Given the description of an element on the screen output the (x, y) to click on. 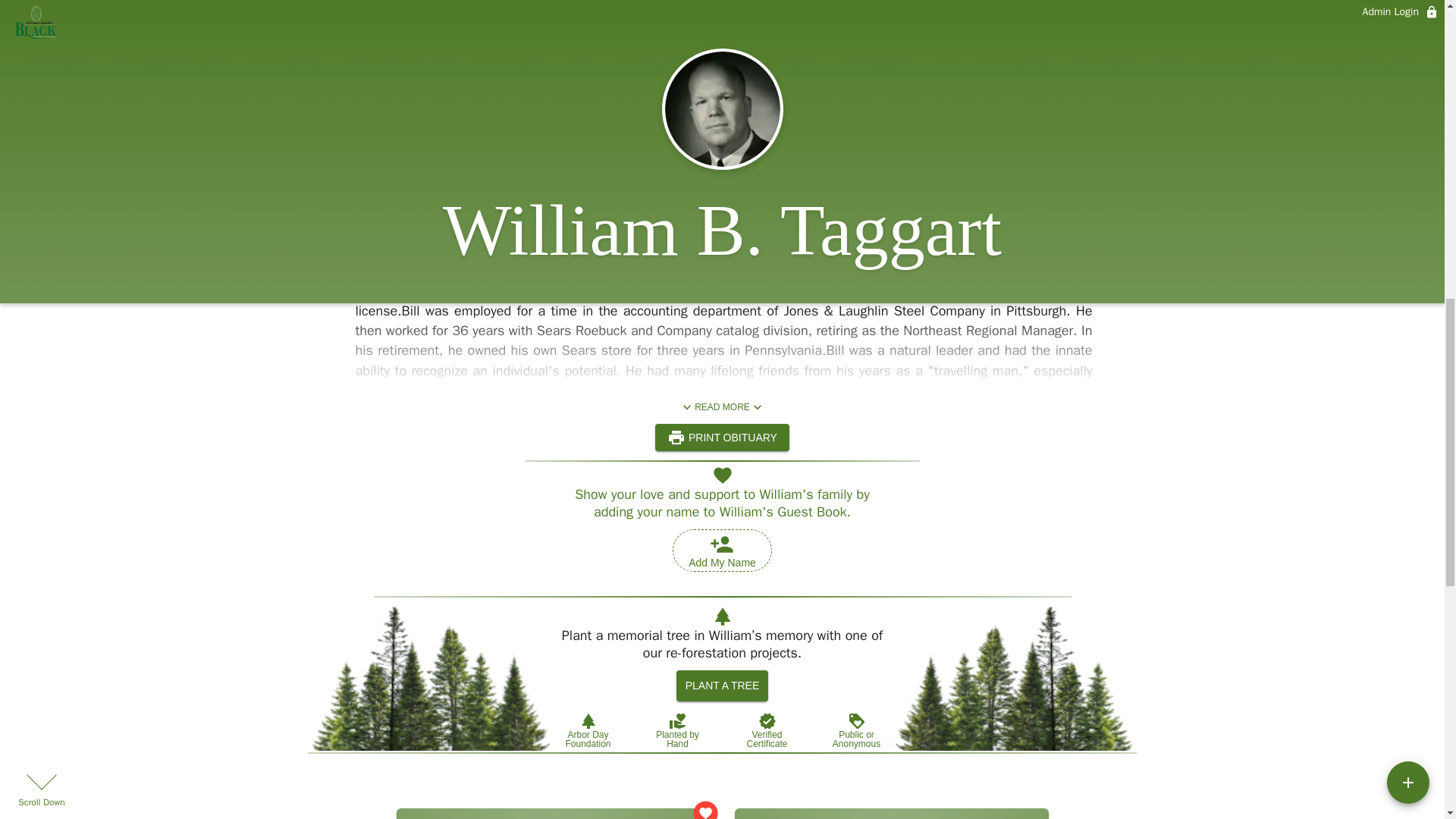
OBITUARY (612, 83)
Arbor Day Foundation (587, 729)
Verified Certificate (766, 729)
PLANT A TREE (722, 685)
Add My Name (721, 550)
Public or Anonymous (855, 729)
MEMORIES (728, 83)
Planted by Hand (676, 729)
READ MORE (721, 406)
